Given the description of an element on the screen output the (x, y) to click on. 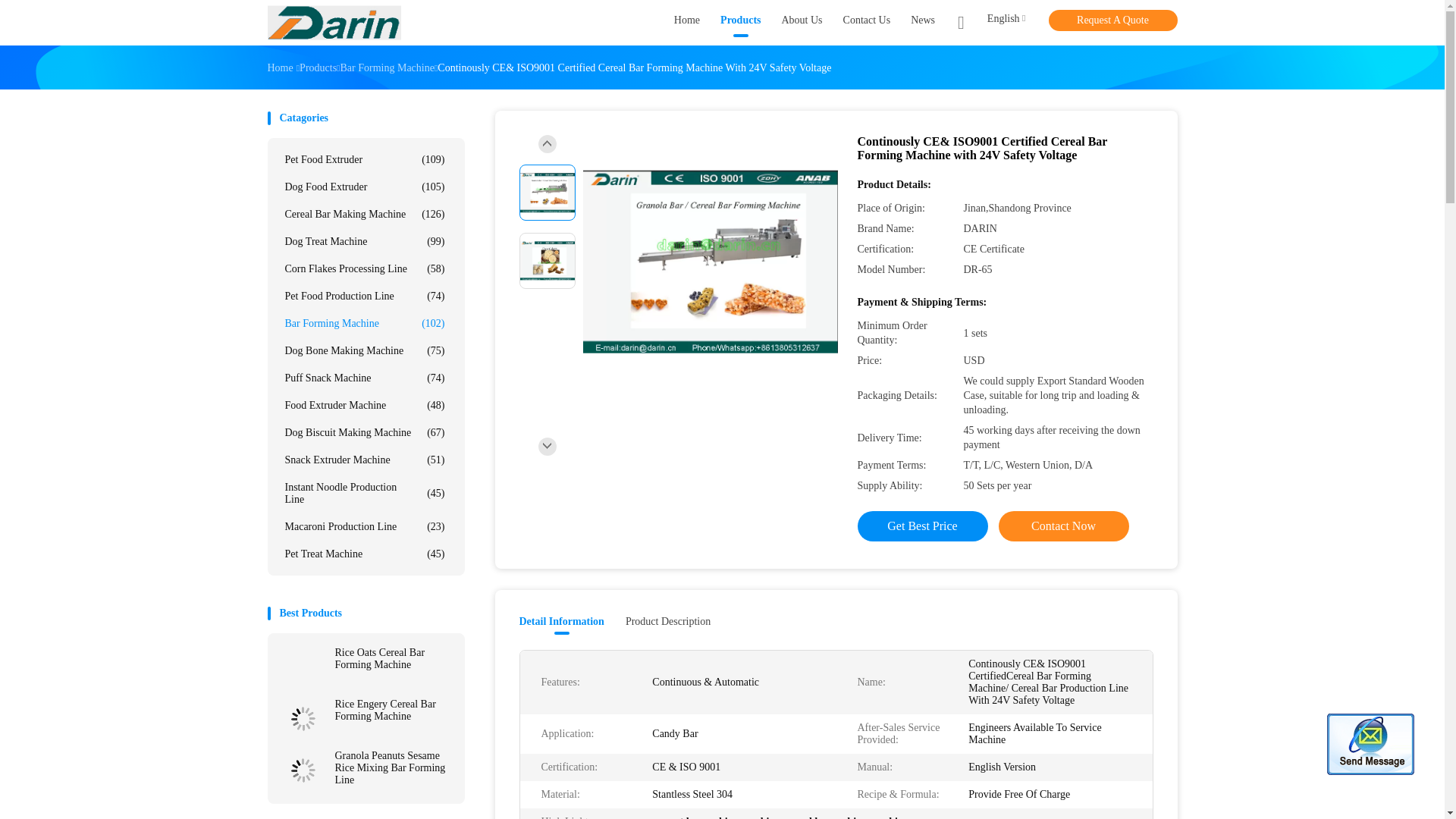
Jinan Darin Machinery Co., Ltd. (333, 22)
News (922, 22)
Contact Us (867, 22)
About Us (801, 22)
Products (740, 22)
Home (687, 22)
